Given the description of an element on the screen output the (x, y) to click on. 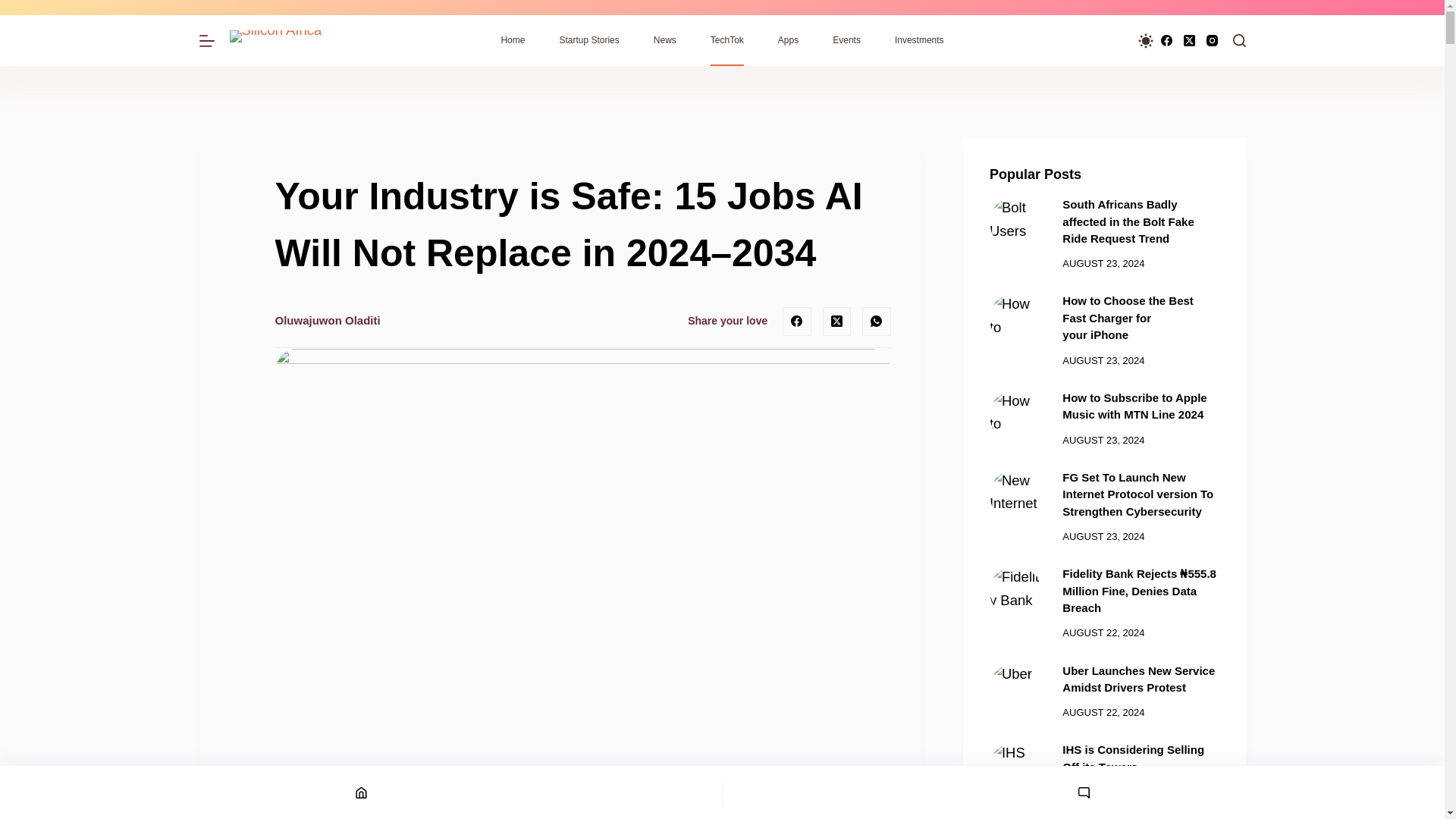
TechTok (726, 40)
Events (846, 40)
Startup Stories (588, 40)
Apps (787, 40)
Investments (918, 40)
Skip to content (15, 7)
News (664, 40)
Home (512, 40)
